Given the description of an element on the screen output the (x, y) to click on. 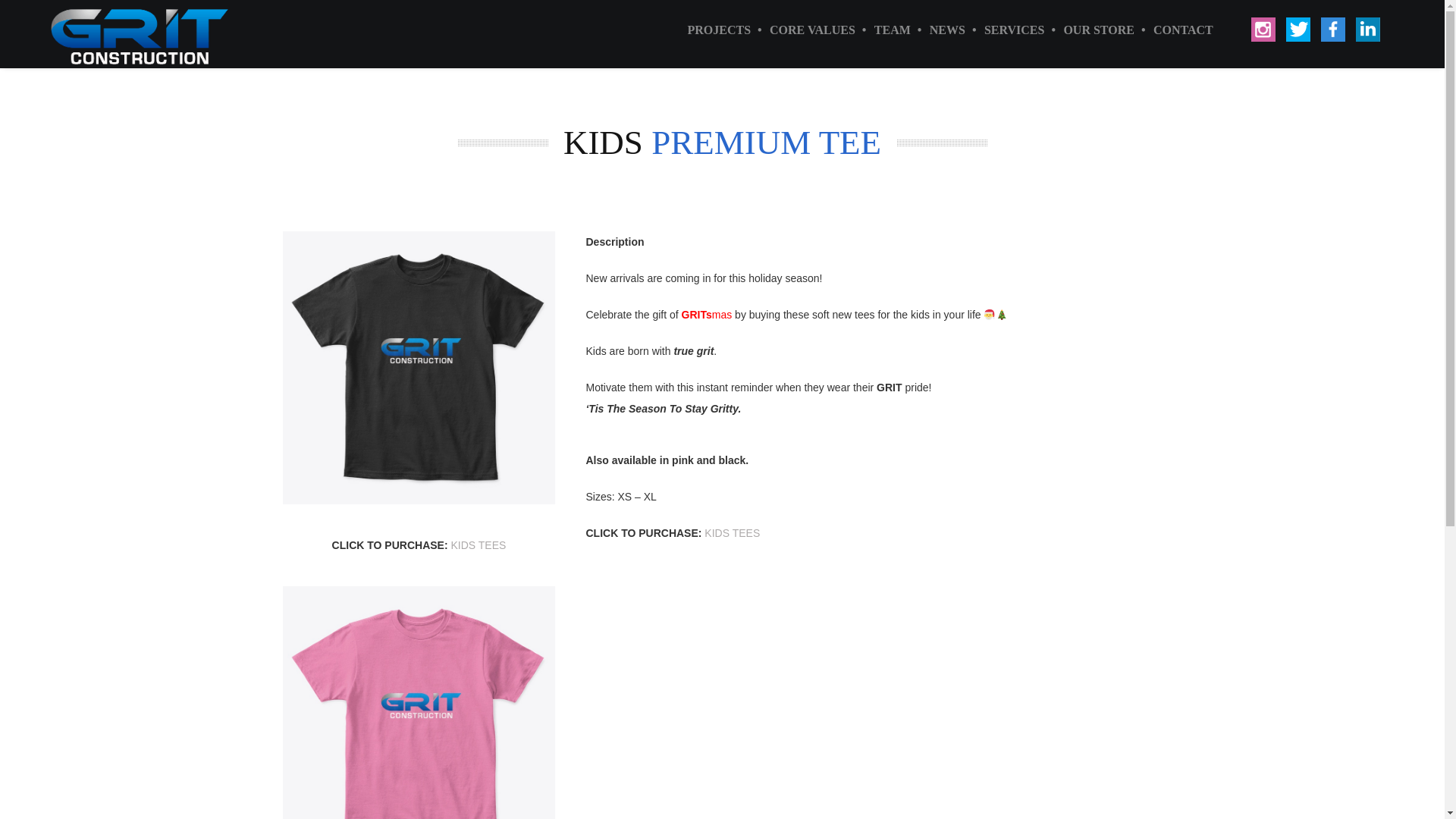
TEAM (883, 30)
GRIT CONSTRUCTION (118, 32)
SERVICES (1004, 30)
OUR STORE (1088, 30)
Linkedin (1367, 2)
PROJECTS (709, 30)
KIDS TEES (732, 532)
CONTACT (1173, 30)
CORE VALUES (803, 30)
NEWS (938, 30)
Twitter (1297, 2)
KIDS TEES (477, 544)
Facebook (1332, 2)
Instagram (1262, 2)
